Given the description of an element on the screen output the (x, y) to click on. 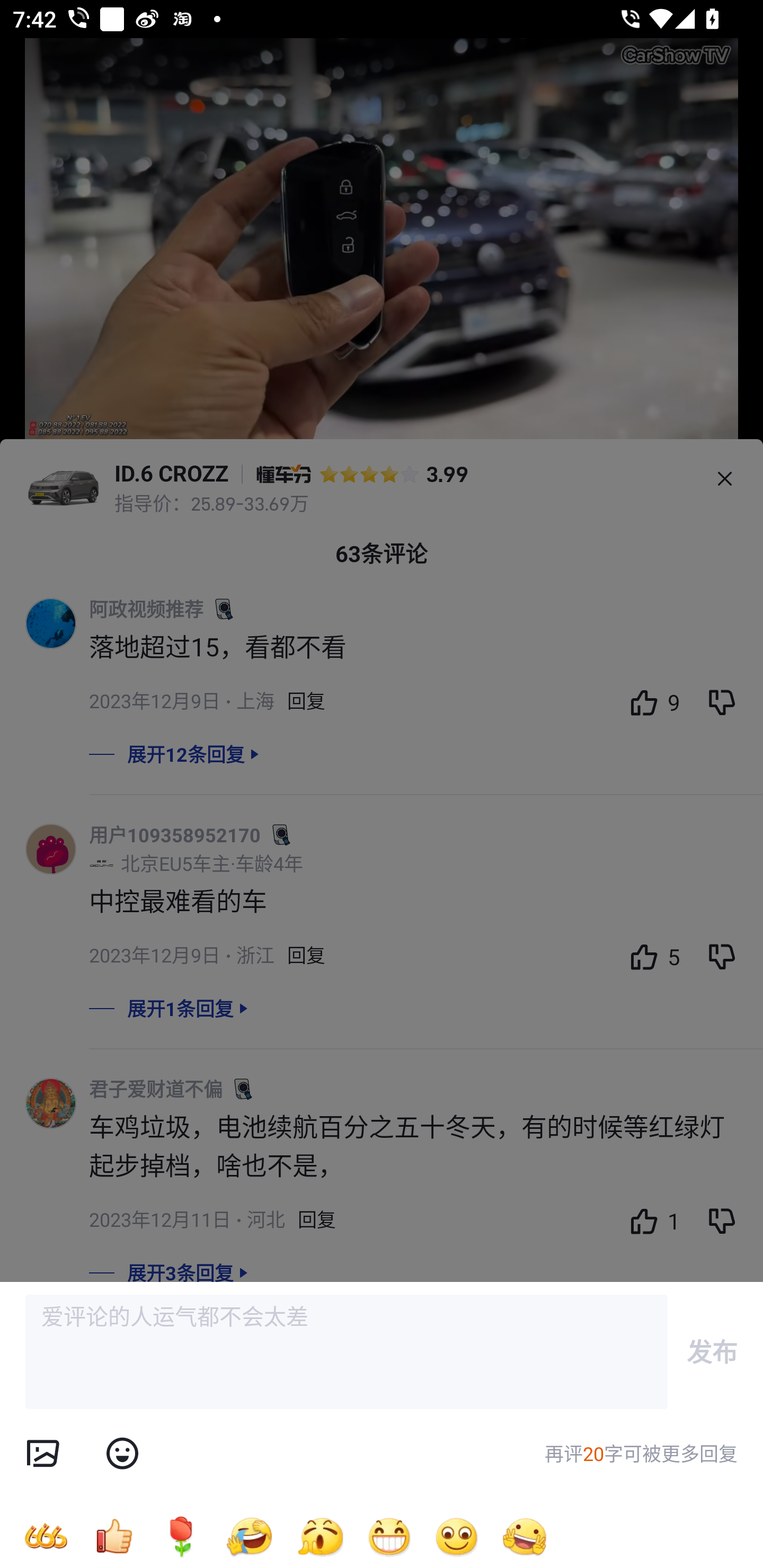
爱评论的人运气都不会太差 (346, 1352)
 (42, 1453)
 (122, 1453)
再评20字可被更多回复 (640, 1453)
[666] (45, 1535)
[赞] (112, 1535)
[玫瑰] (180, 1535)
[我想静静] (249, 1535)
[小鼓掌] (320, 1535)
[呲牙] (389, 1535)
[微笑] (456, 1535)
[耶] (524, 1535)
